Given the description of an element on the screen output the (x, y) to click on. 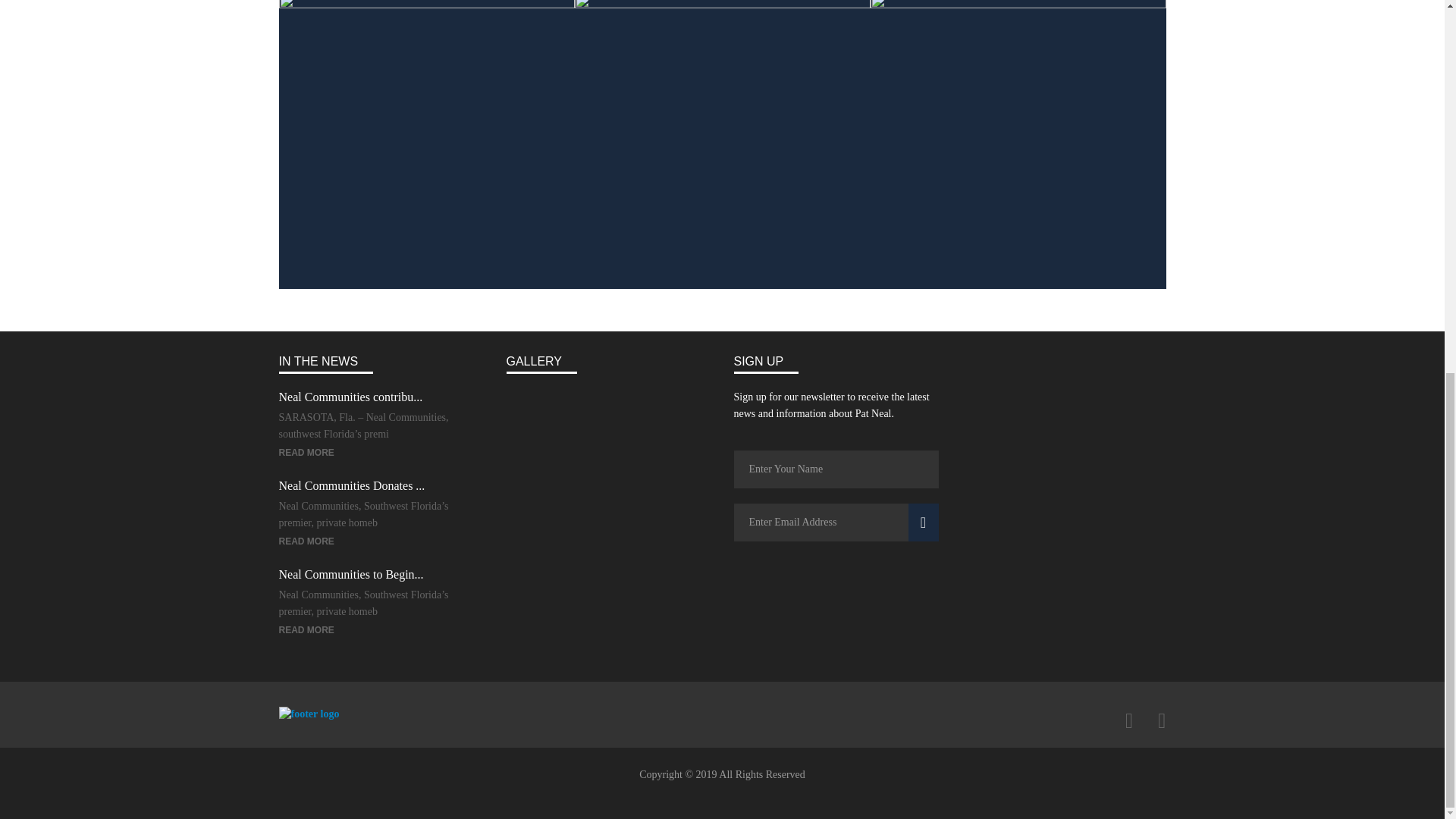
LinkedIn (1161, 721)
READ MORE (306, 541)
Facebook (1128, 721)
Pat NealEnvironmental Advocacy - Pat Neal (309, 714)
READ MORE (306, 452)
Enter Email Address (836, 522)
READ MORE (306, 629)
Enter Your Name (836, 469)
